Given the description of an element on the screen output the (x, y) to click on. 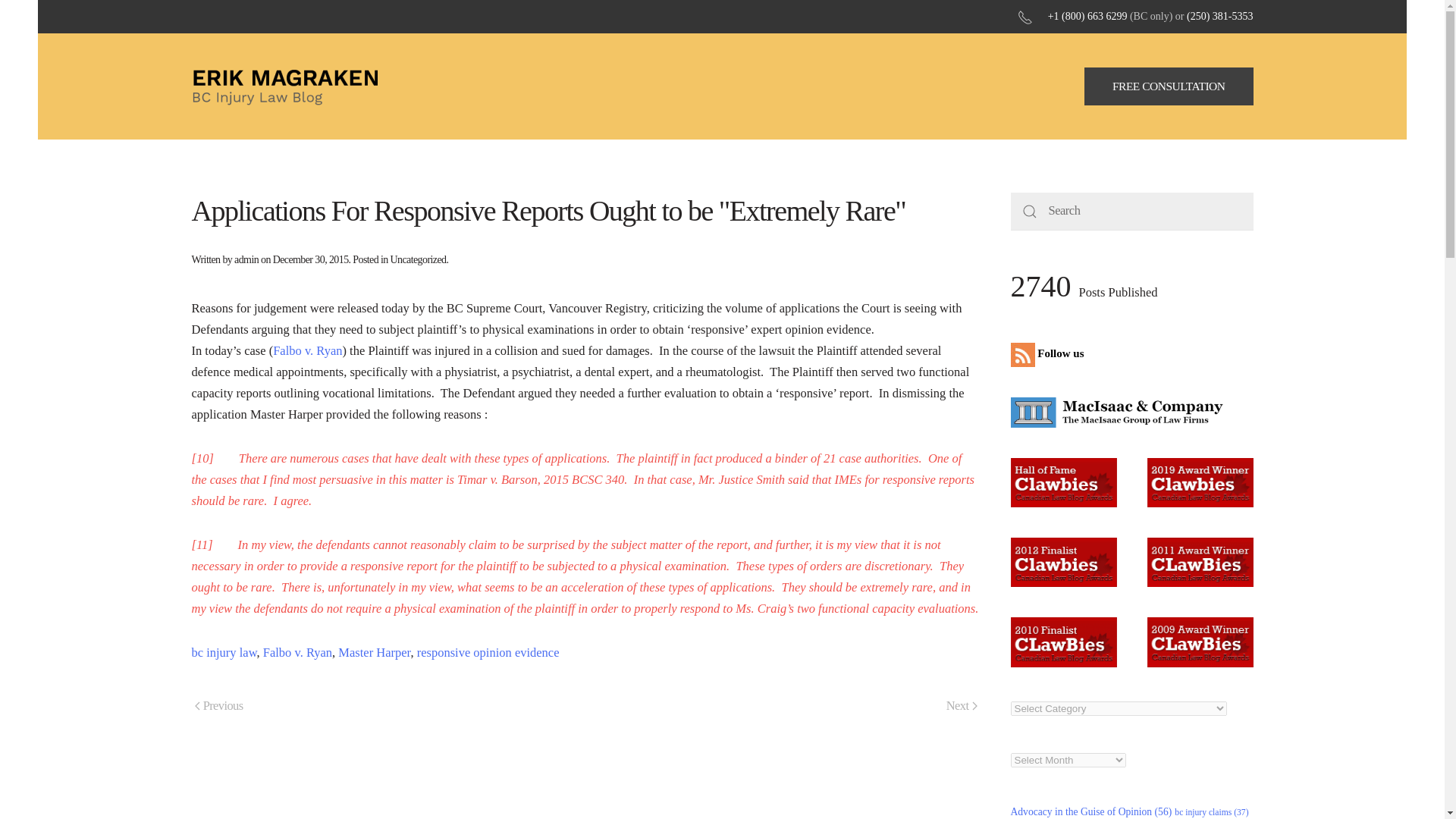
responsive opinion evidence (487, 652)
Falbo v. Ryan (307, 350)
Uncategorized (418, 259)
Previous (218, 706)
Falbo v. Ryan (297, 652)
admin (246, 259)
Follow us (1050, 353)
FREE CONSULTATION (1168, 86)
bc injury law (223, 652)
Master Harper (373, 652)
Next (961, 706)
